Given the description of an element on the screen output the (x, y) to click on. 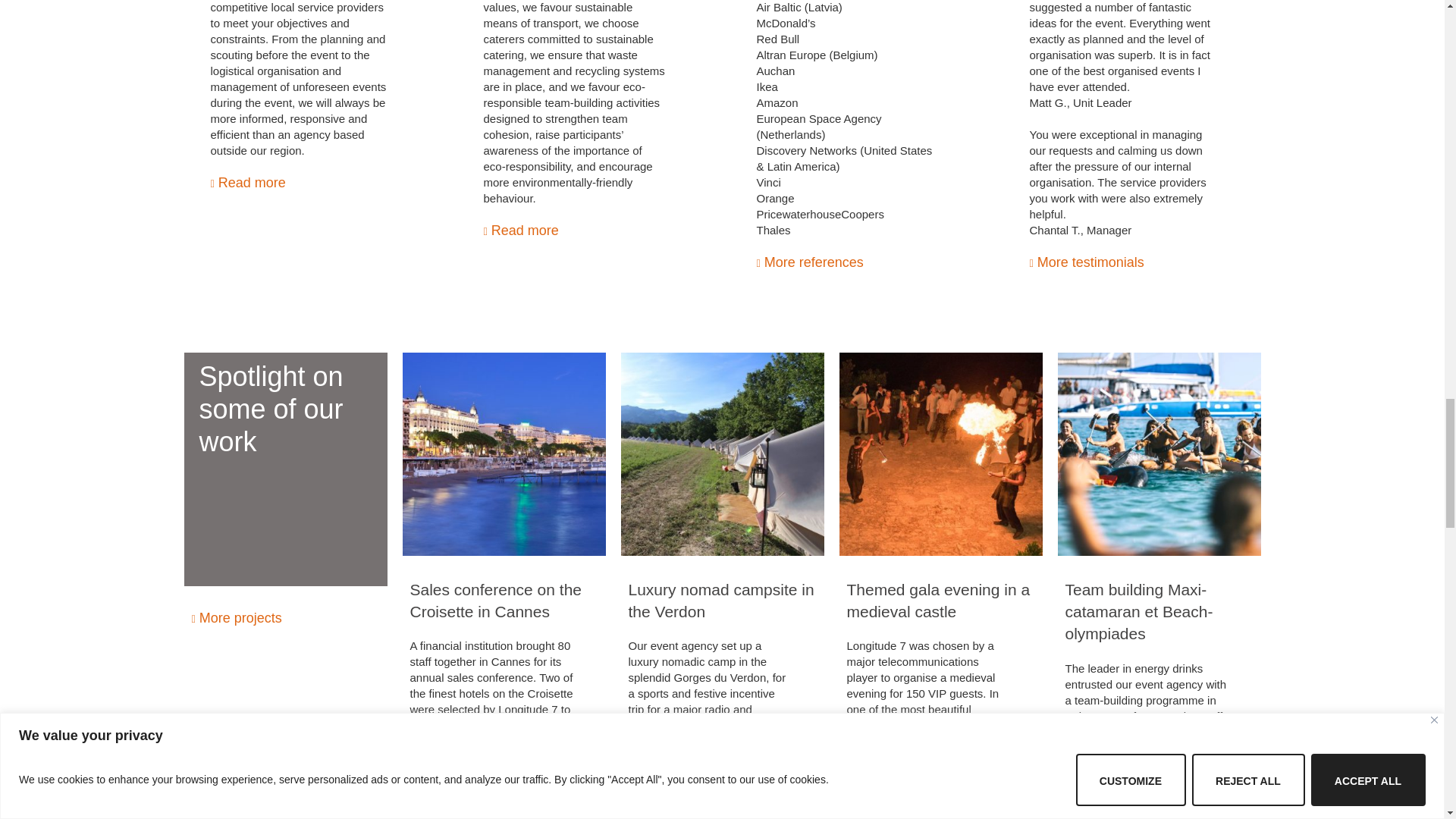
campement-nomade-luxe-verdon-2 (722, 454)
soiree-gala-chateau-medieval-provence-2 (940, 454)
seminaire-commercial-croisette-cannes-2 (503, 454)
